Given the description of an element on the screen output the (x, y) to click on. 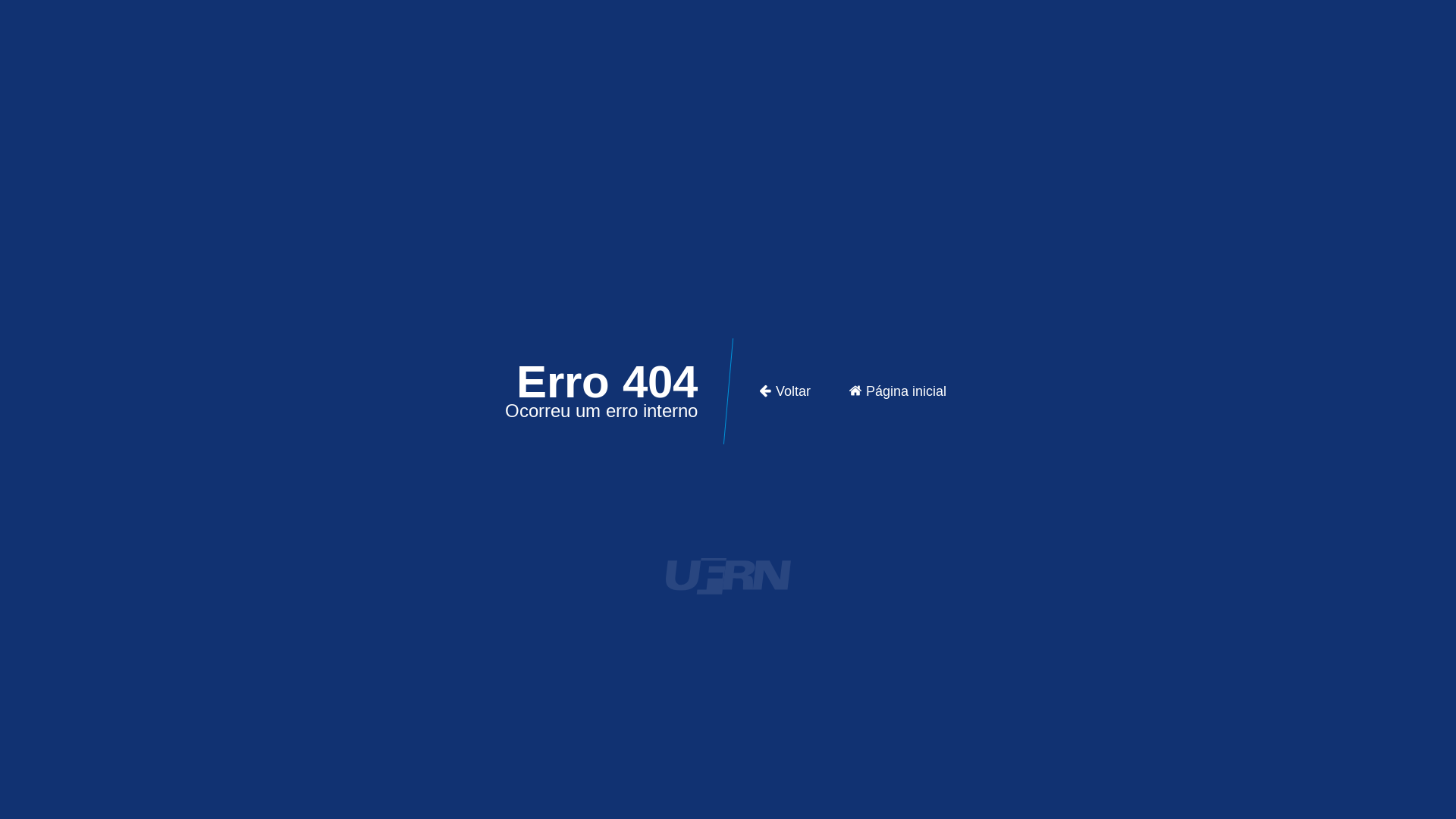
Voltar Element type: text (784, 390)
